Given the description of an element on the screen output the (x, y) to click on. 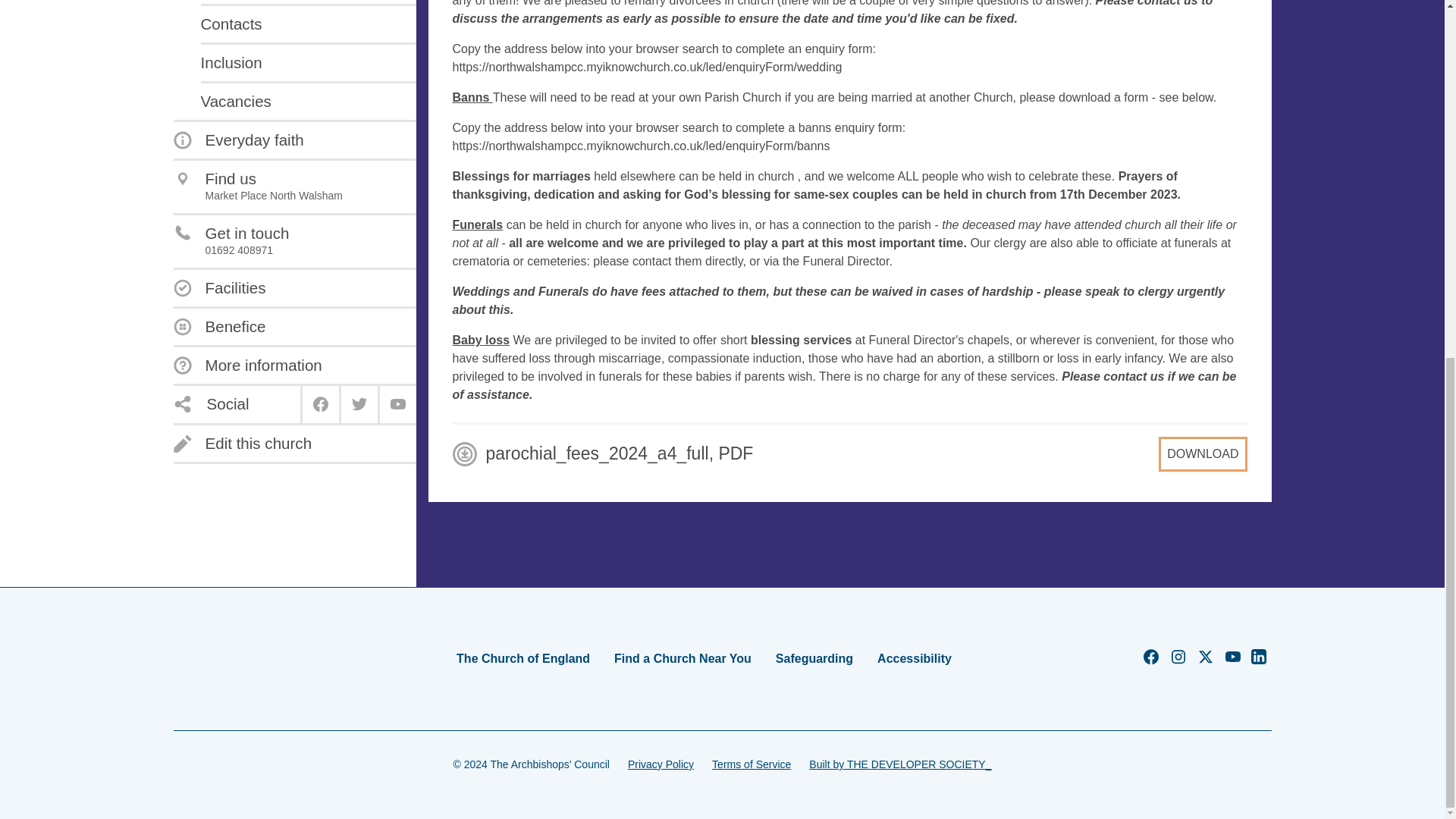
ACNY home (221, 658)
